Given the description of an element on the screen output the (x, y) to click on. 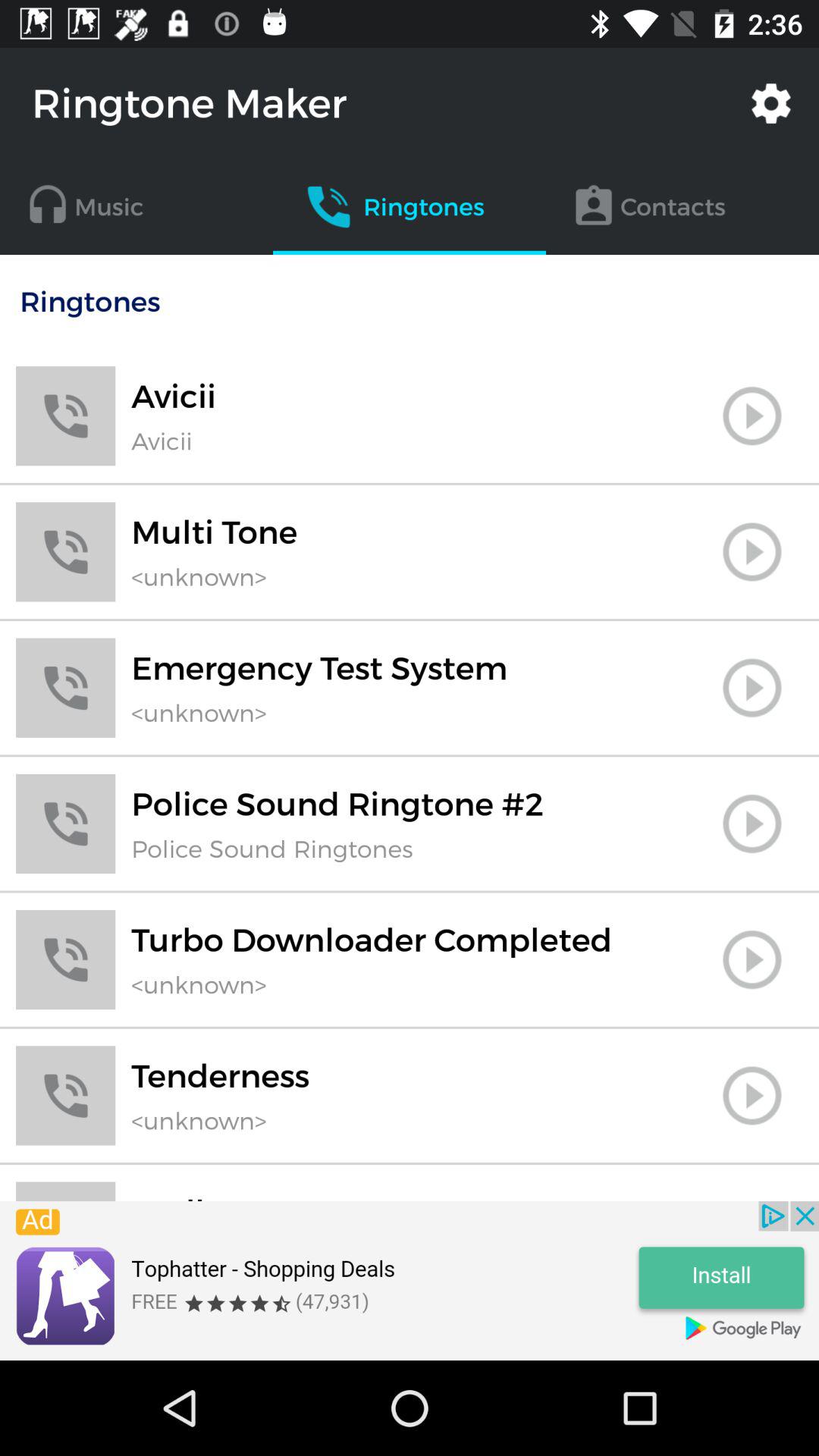
ringtones play option (752, 1095)
